Given the description of an element on the screen output the (x, y) to click on. 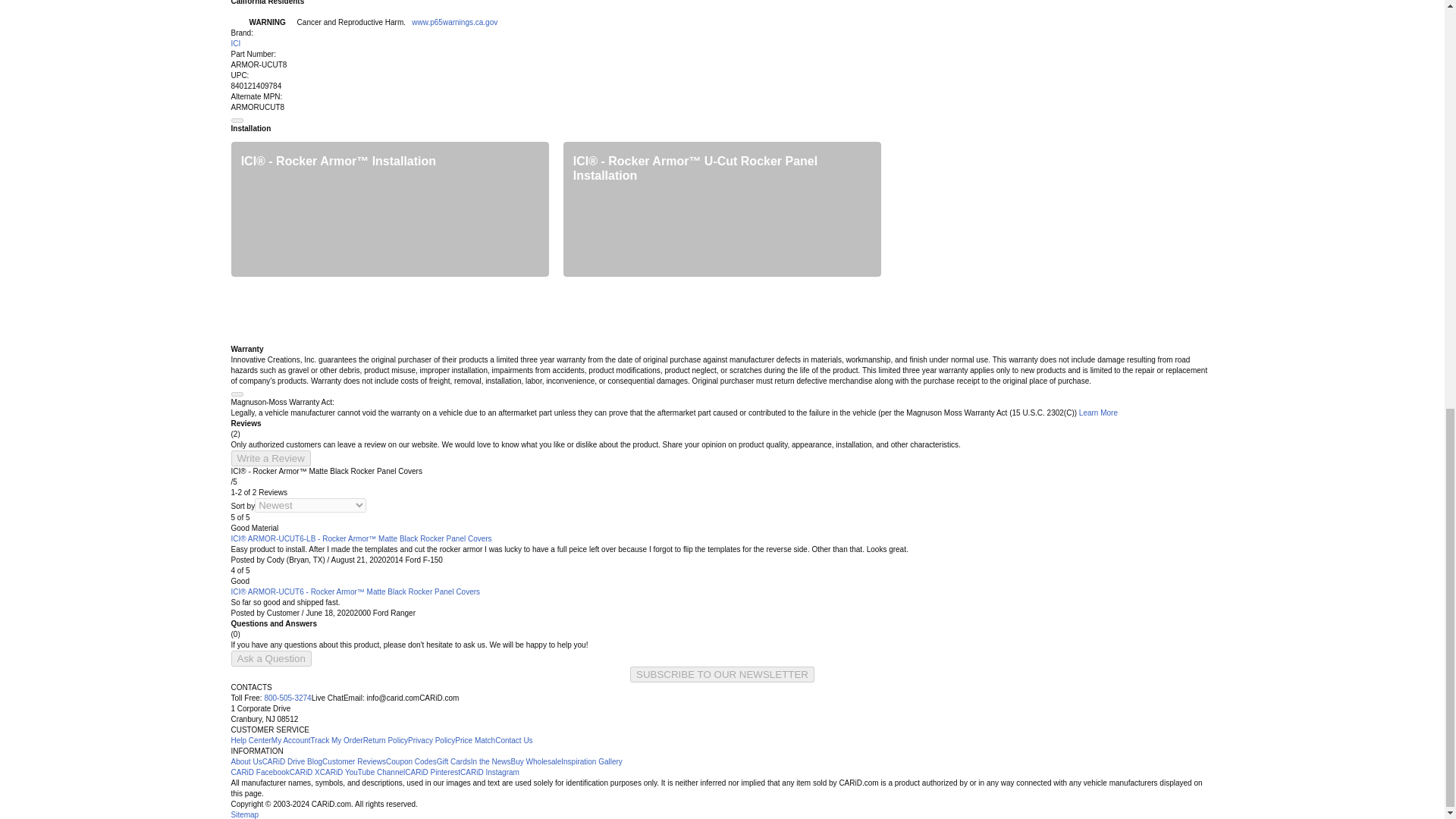
ICI (235, 43)
